Given the description of an element on the screen output the (x, y) to click on. 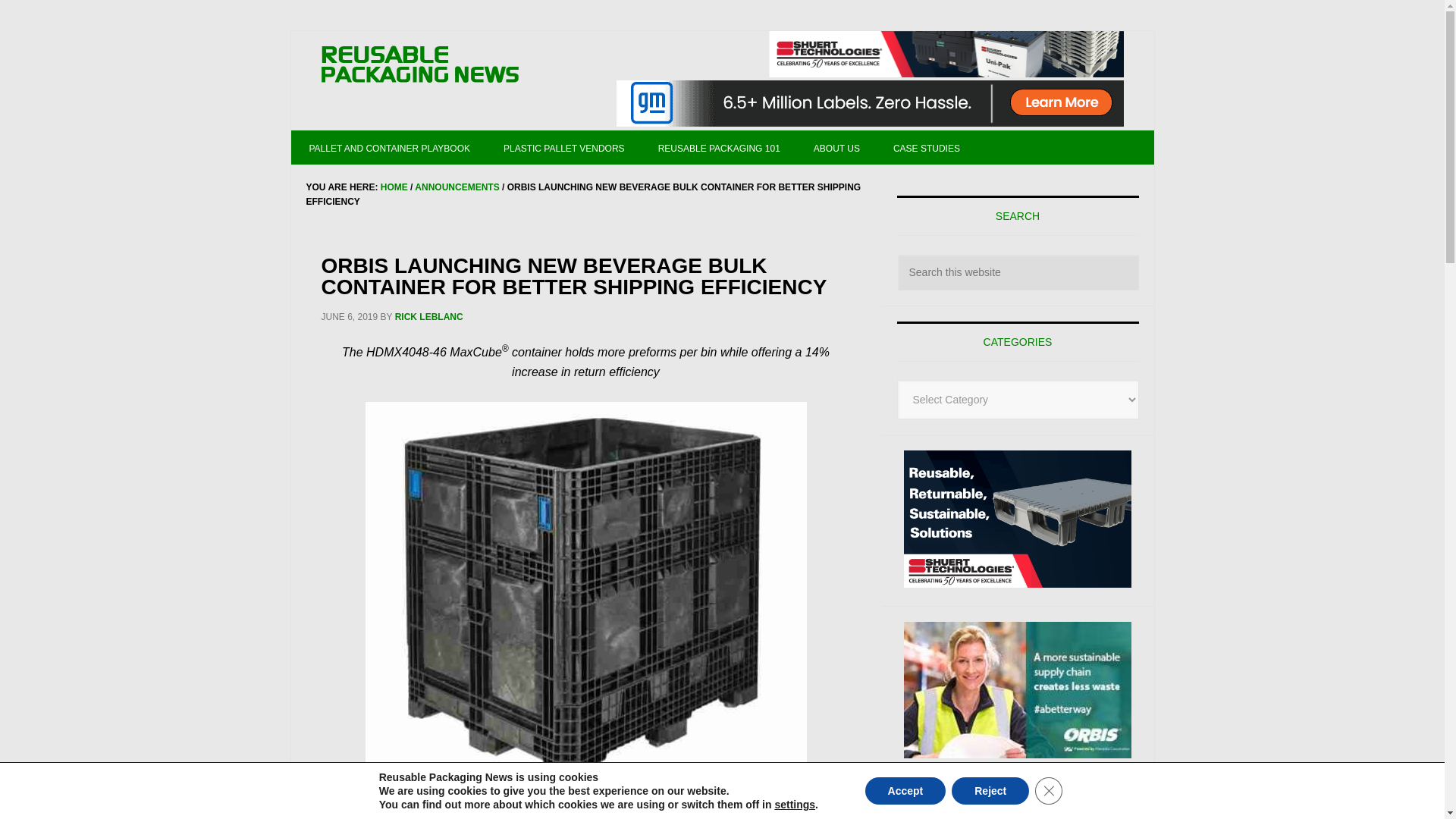
CONPearl (1017, 805)
Shuert Industries (946, 53)
HOME (393, 186)
Shuert (1017, 519)
ABOUT US (835, 147)
REUSABLE PACKAGING 101 (718, 147)
CASE STUDIES (926, 147)
RICK LEBLANC (428, 317)
PALLET AND CONTAINER PLAYBOOK (390, 147)
ANNOUNCEMENTS (456, 186)
Orbis (1017, 689)
PLASTIC PALLET VENDORS (563, 147)
REUSABLE PACKAGING NEWS (419, 65)
